Given the description of an element on the screen output the (x, y) to click on. 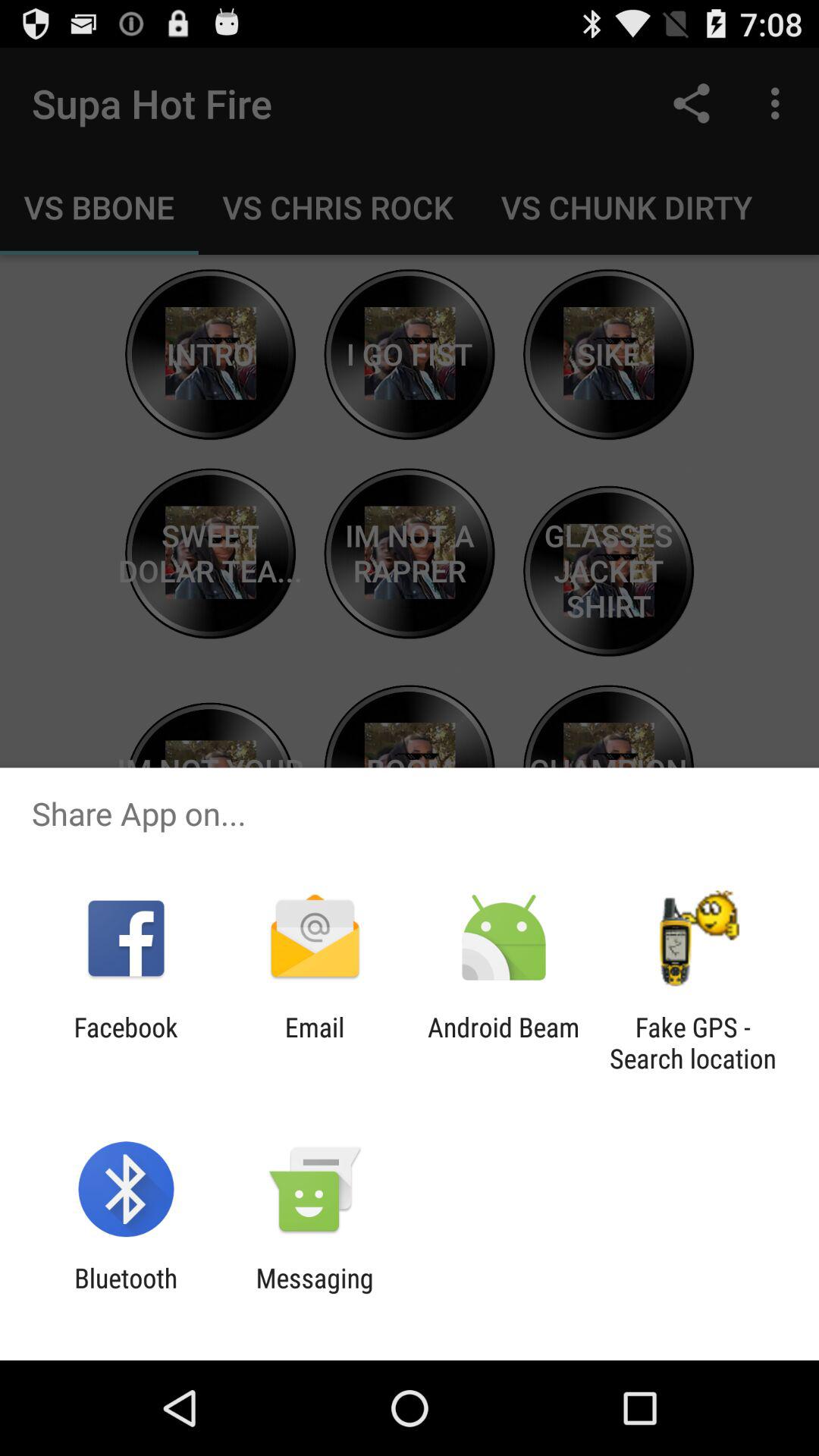
click app to the right of email (503, 1042)
